Given the description of an element on the screen output the (x, y) to click on. 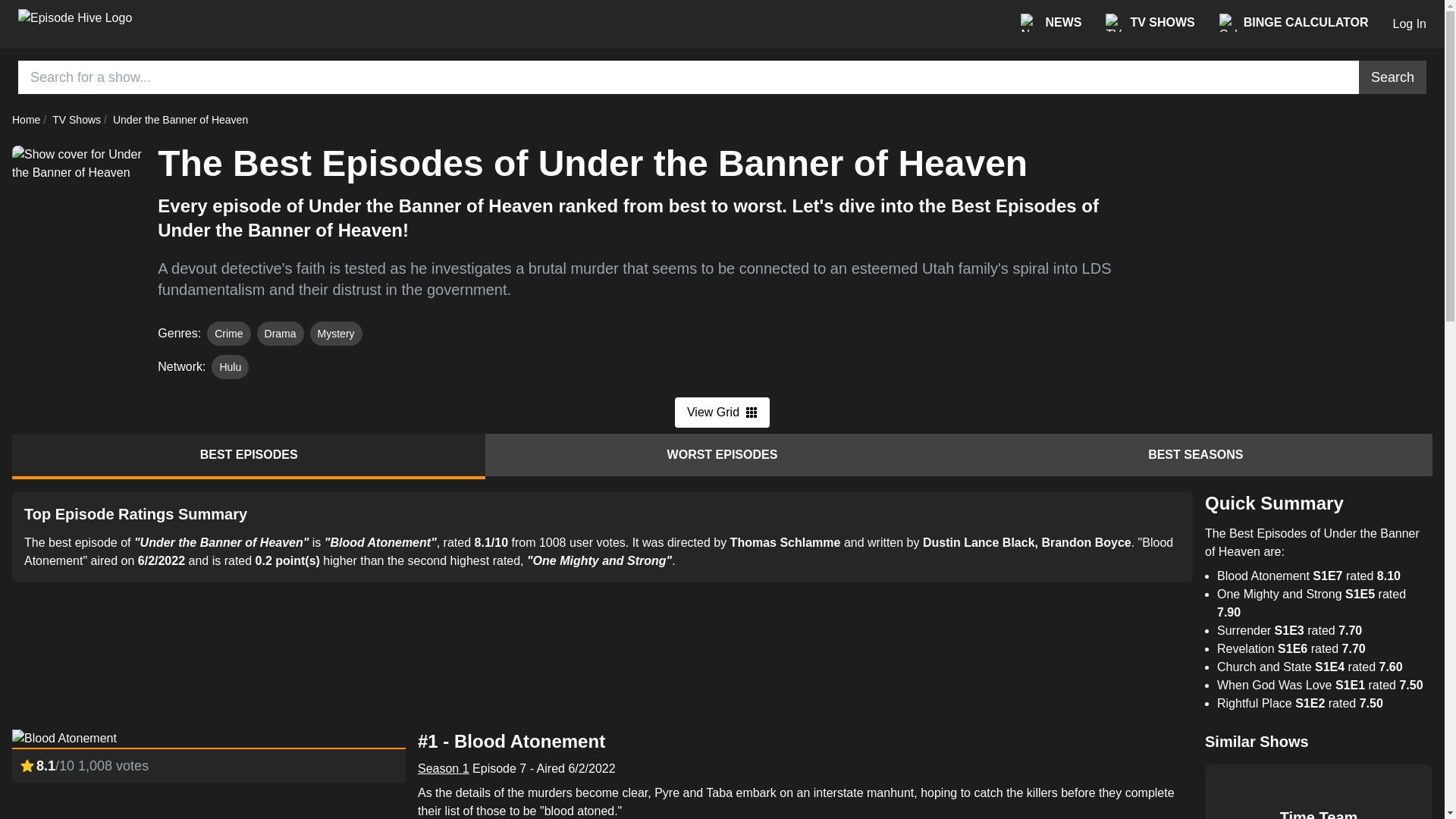
TV SHOWS (1149, 22)
BEST SEASONS (1195, 454)
WORST EPISODES (721, 454)
Search (1392, 77)
WORST EPISODES (721, 454)
BEST SEASONS (1195, 454)
BEST EPISODES (247, 454)
View Grid (722, 412)
Log In (1409, 24)
BEST EPISODES (247, 456)
